Given the description of an element on the screen output the (x, y) to click on. 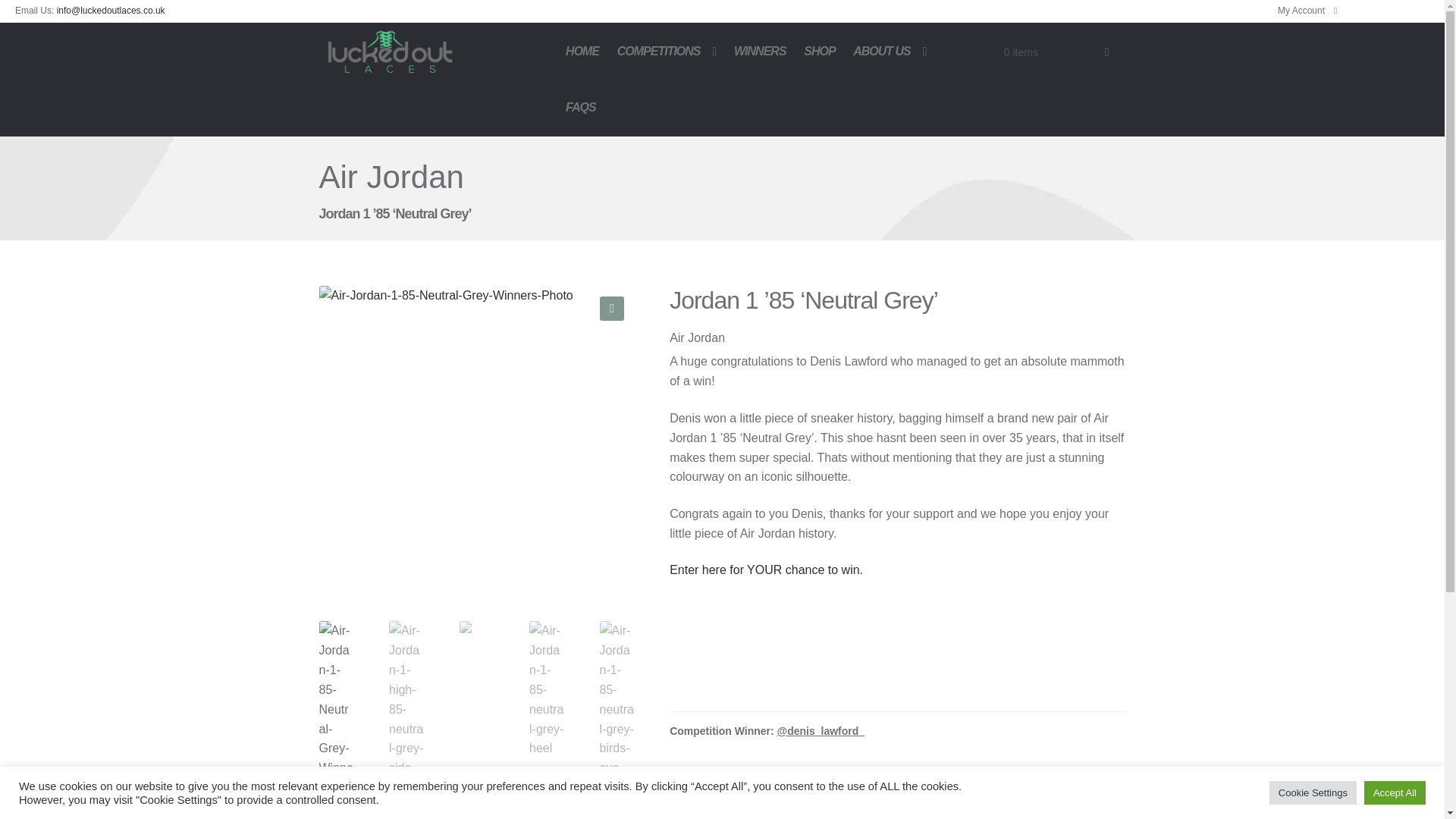
Air Jordan 1 85 Neutral Grey Winner Photo (476, 443)
HOME (581, 50)
Customer reviews powered by Trustpilot (897, 654)
WINNERS (759, 50)
0 items (1056, 51)
View your shopping basket (1056, 51)
ABOUT US (889, 50)
SHOP (819, 50)
COMPETITIONS (666, 50)
FAQS (579, 107)
Enter here for YOUR chance to win. (766, 569)
My Account (1307, 9)
